Given the description of an element on the screen output the (x, y) to click on. 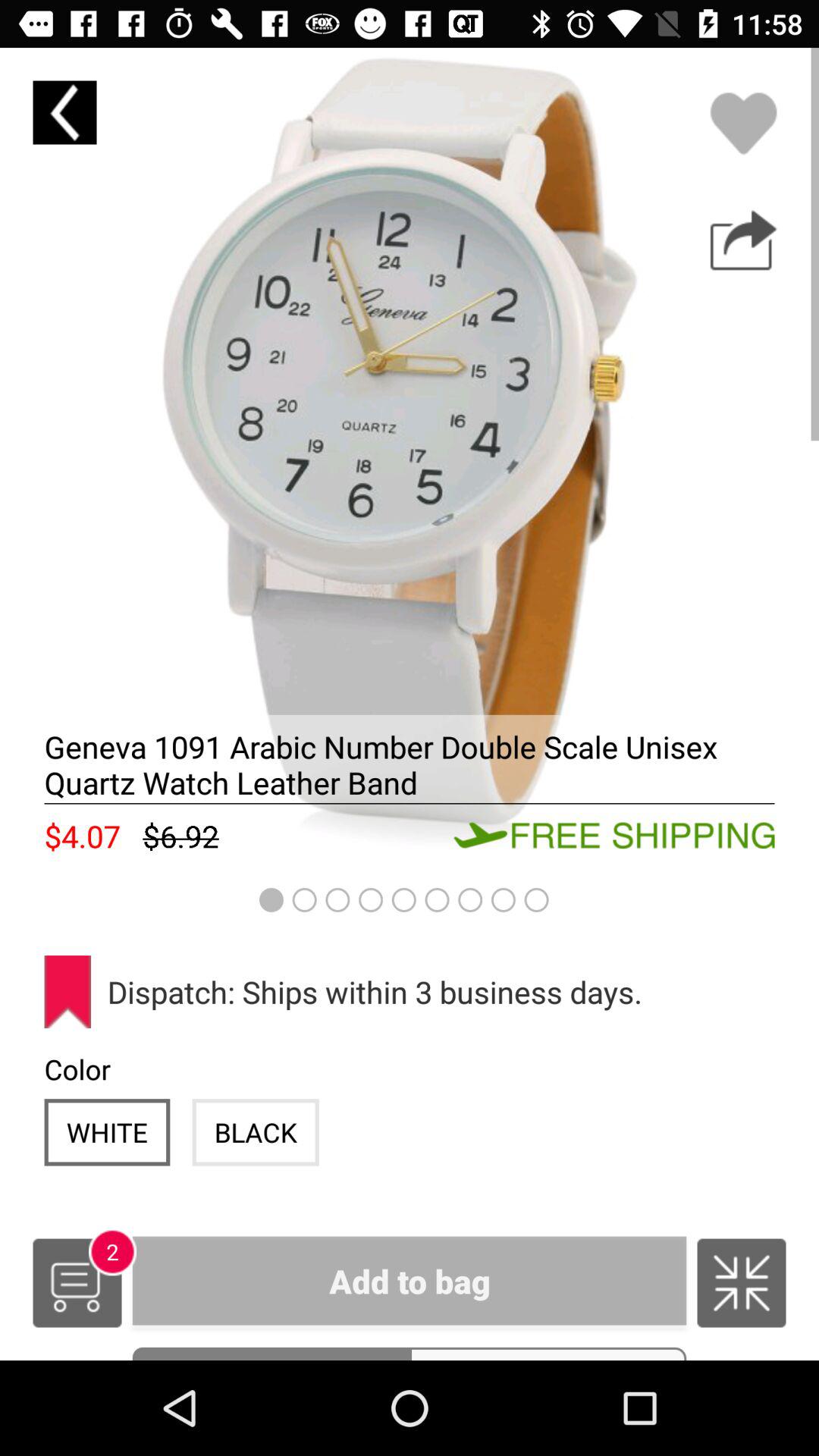
view shopping cart (76, 1282)
